Given the description of an element on the screen output the (x, y) to click on. 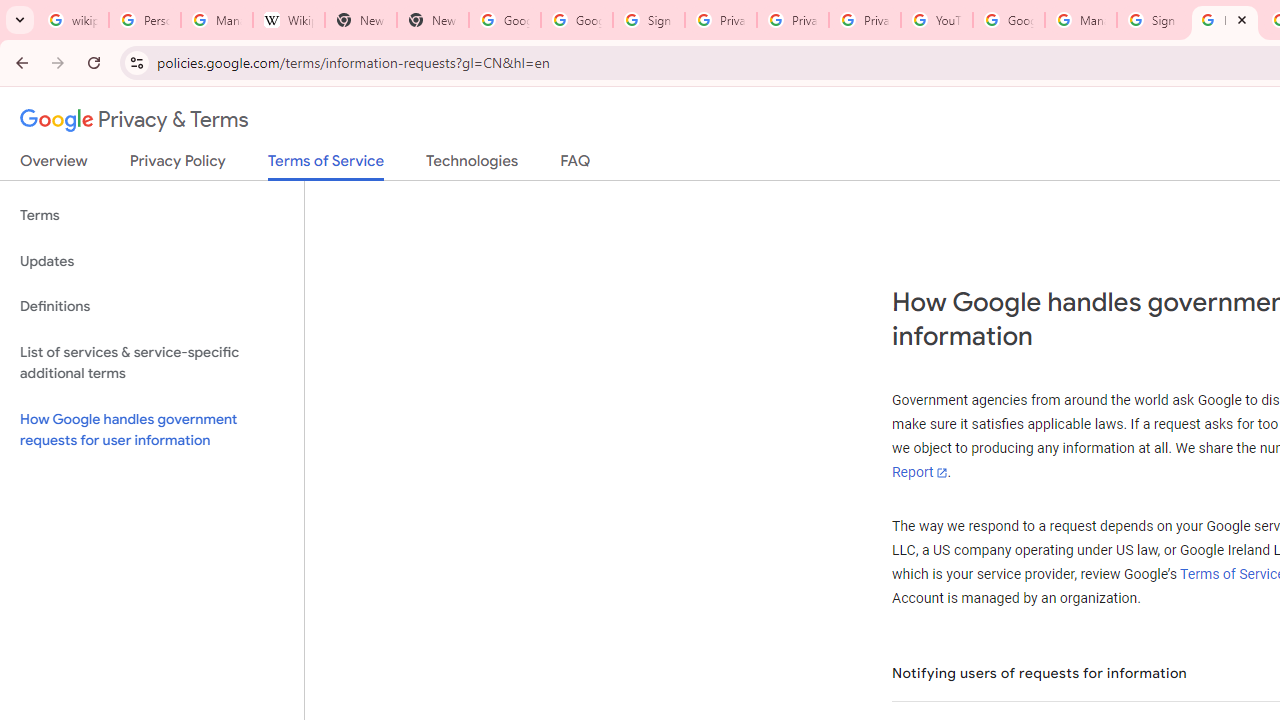
Manage your Location History - Google Search Help (216, 20)
Sign in - Google Accounts (648, 20)
New Tab (432, 20)
